Given the description of an element on the screen output the (x, y) to click on. 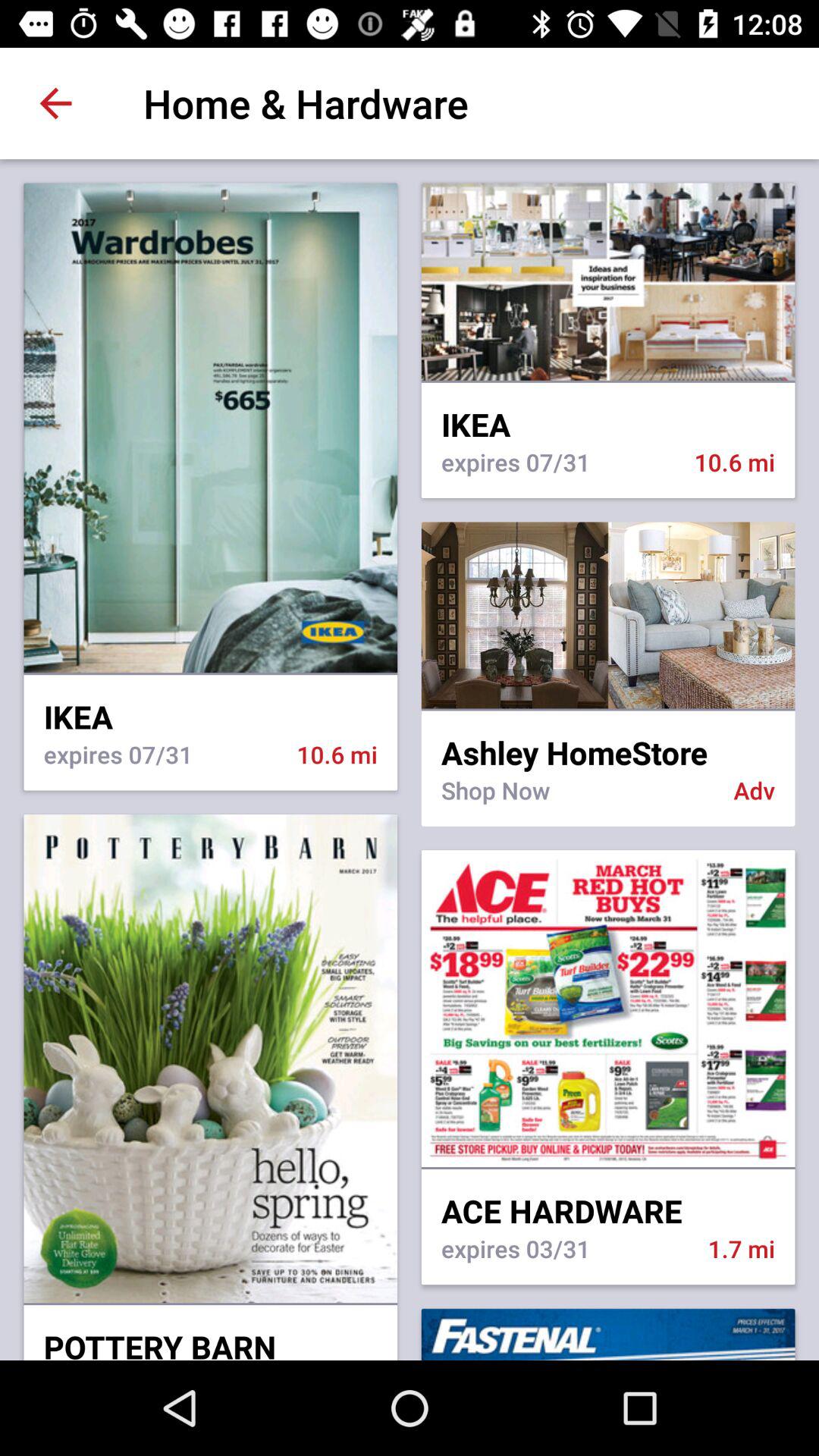
pick selected location (608, 615)
